Given the description of an element on the screen output the (x, y) to click on. 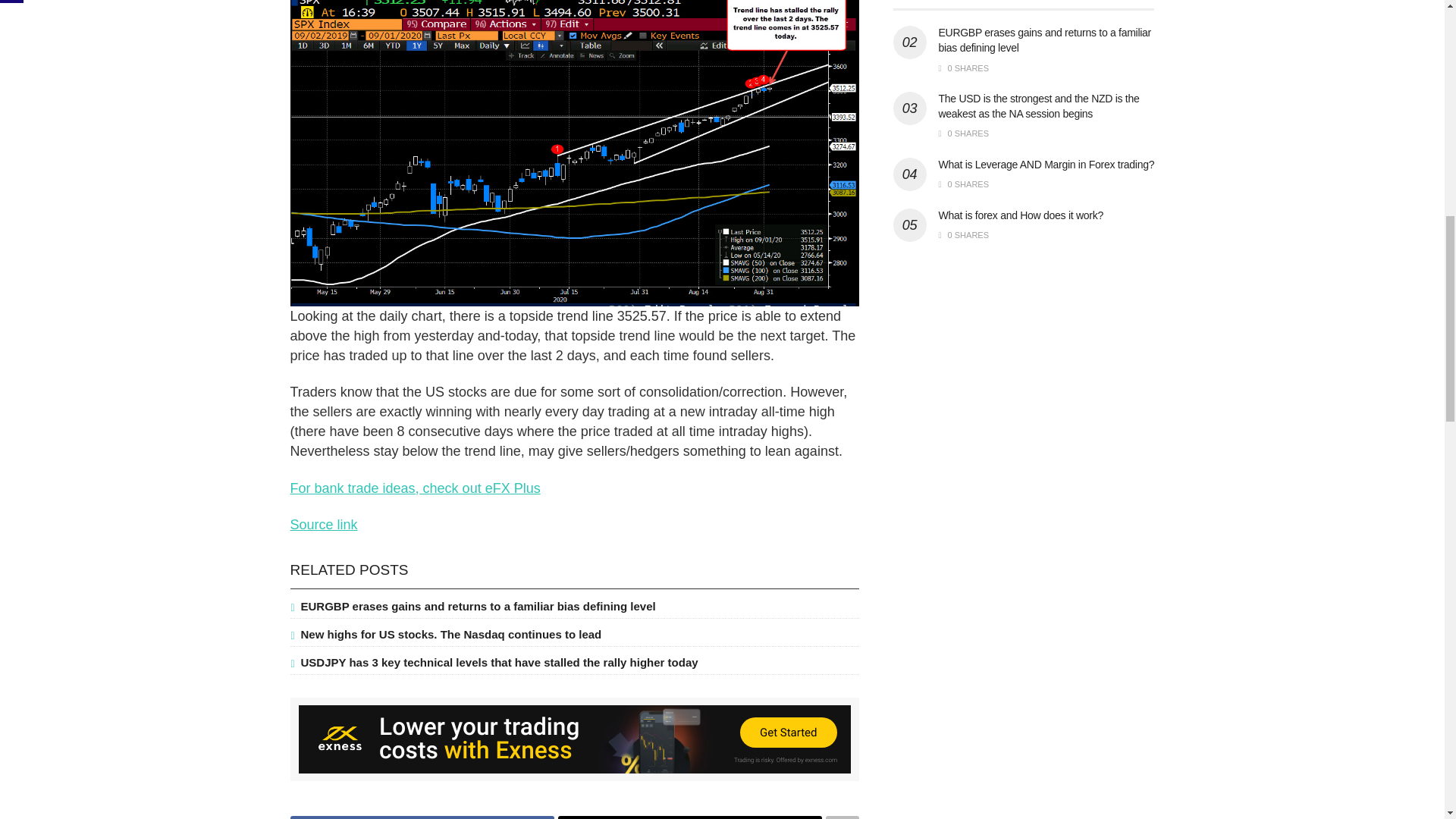
For bank trade ideas, check out eFX Plus (414, 488)
Share (421, 817)
Tweet (689, 817)
New highs for US stocks. The Nasdaq continues to lead (450, 634)
Source link (322, 524)
